Given the description of an element on the screen output the (x, y) to click on. 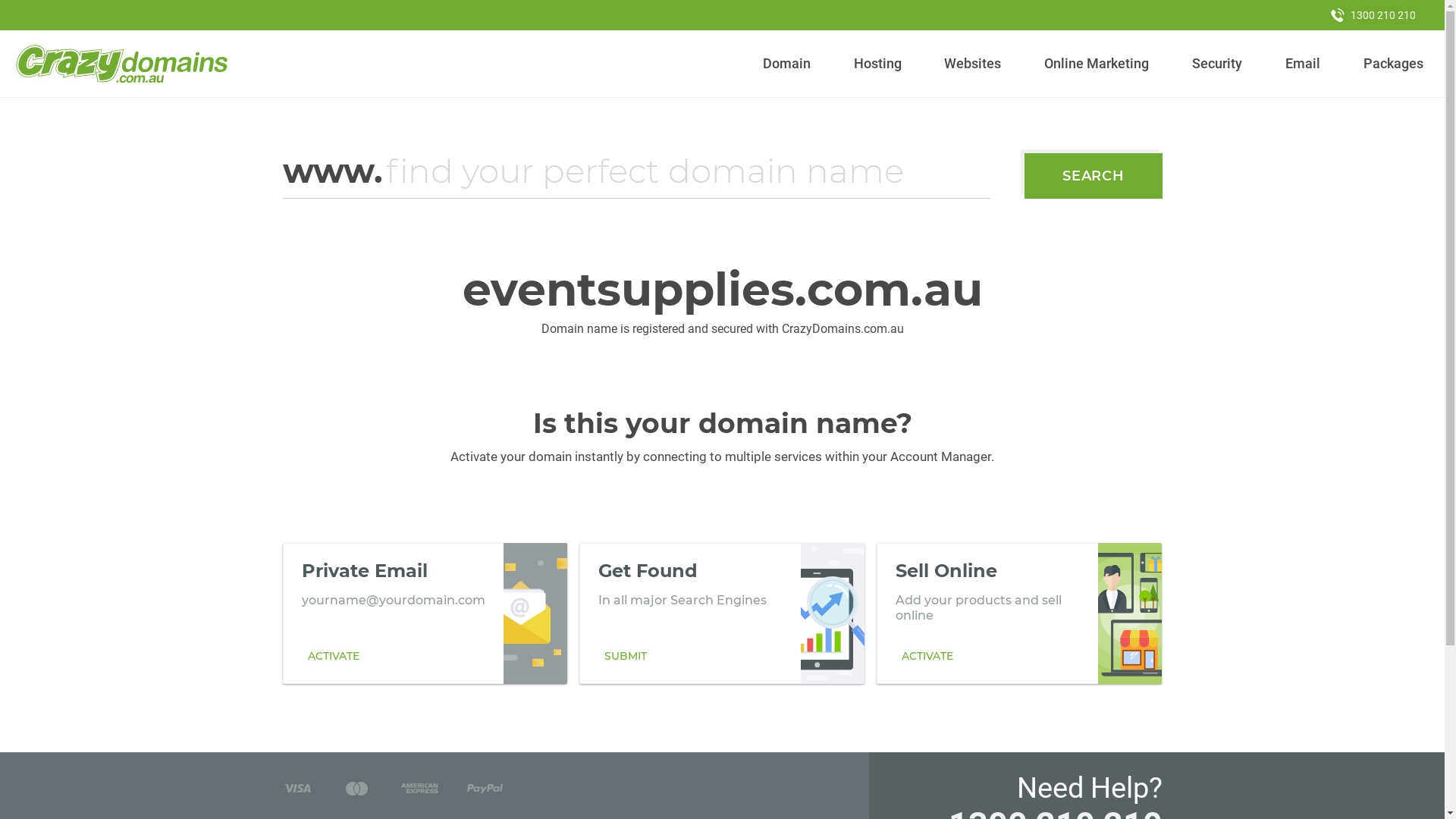
Email Element type: text (1302, 63)
Security Element type: text (1217, 63)
Online Marketing Element type: text (1096, 63)
Hosting Element type: text (877, 63)
Packages Element type: text (1392, 63)
Private Email
yourname@yourdomain.com
ACTIVATE Element type: text (424, 613)
Get Found
In all major Search Engines
SUBMIT Element type: text (721, 613)
Websites Element type: text (972, 63)
Domain Element type: text (786, 63)
SEARCH Element type: text (1092, 175)
Sell Online
Add your products and sell online
ACTIVATE Element type: text (1018, 613)
1300 210 210 Element type: text (1373, 15)
